Given the description of an element on the screen output the (x, y) to click on. 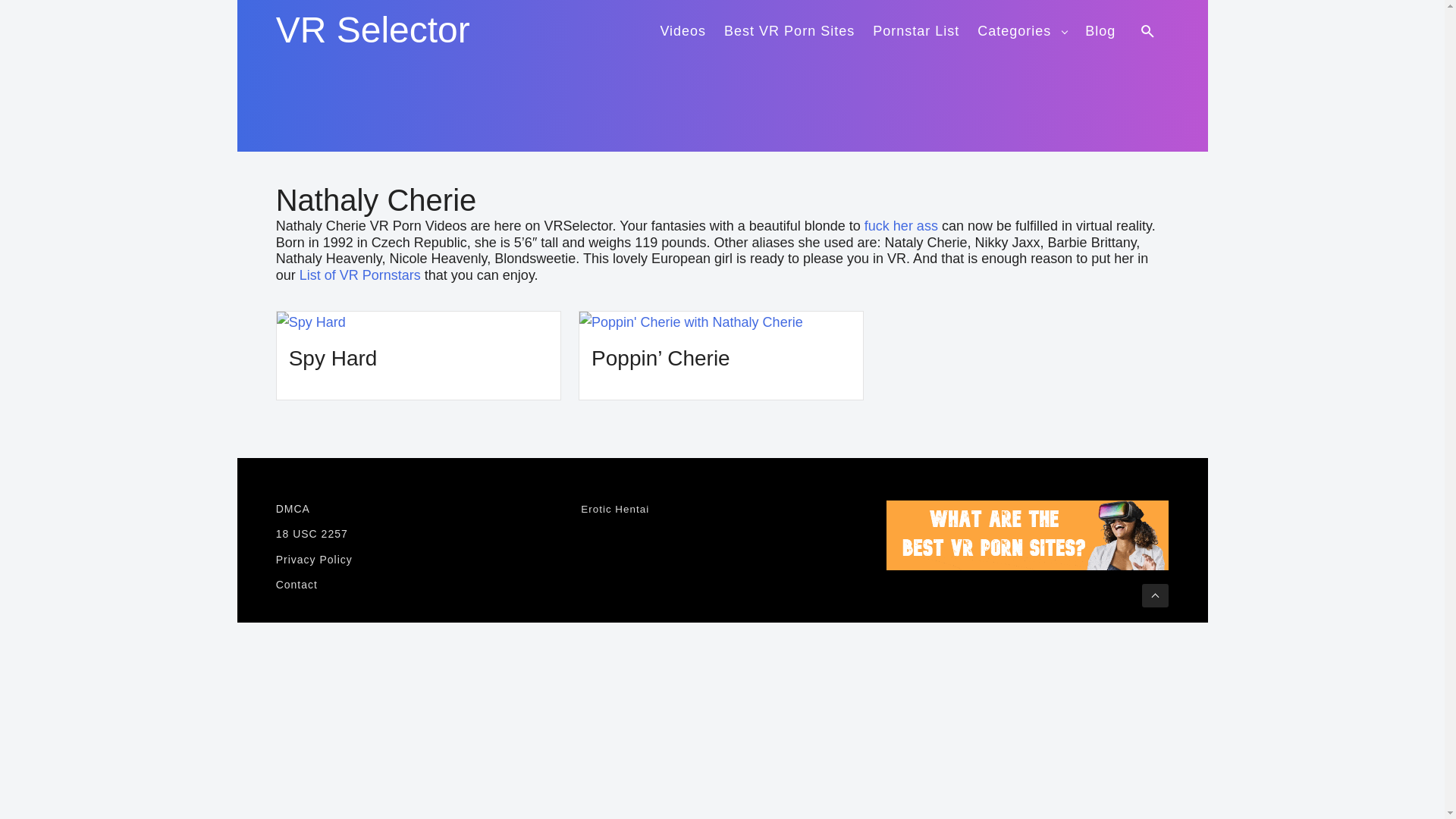
18 USC 2257 (416, 533)
Categories (1022, 29)
Privacy Policy (416, 559)
Contact (416, 584)
Poppin' Cherie with Nathaly Cherie (721, 322)
Best VR Porn Sites (788, 29)
Spy Hard (332, 358)
Videos (682, 29)
List of VR Pornstars (359, 274)
fuck her ass (900, 225)
Erotic Hentai (614, 509)
DMCA (416, 508)
Search (1150, 30)
Spy Hard (418, 322)
Blog (1099, 29)
